Given the description of an element on the screen output the (x, y) to click on. 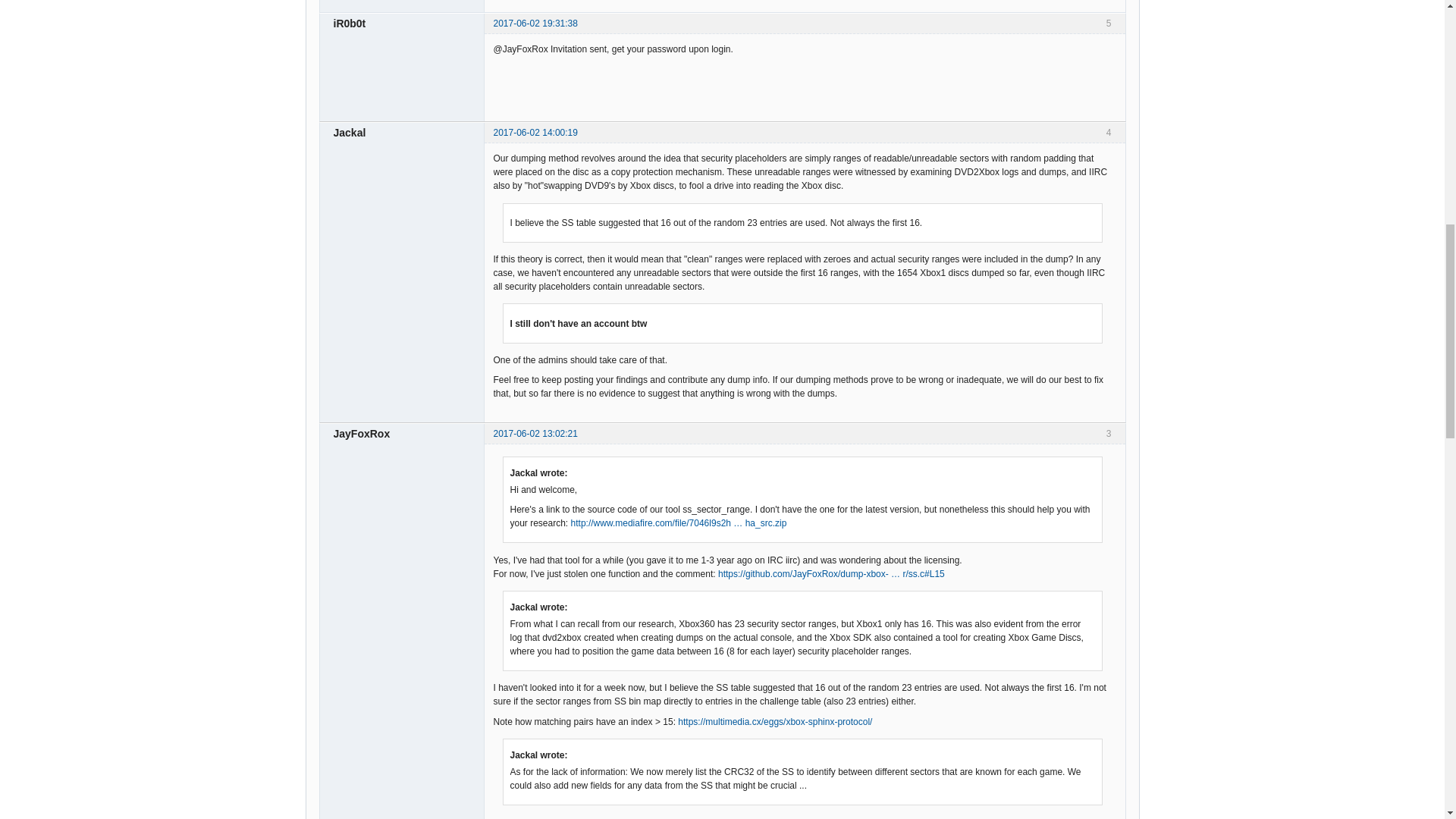
2017-06-02 13:02:21 (534, 433)
2017-06-02 19:31:38 (534, 23)
2017-06-02 14:00:19 (534, 132)
